Given the description of an element on the screen output the (x, y) to click on. 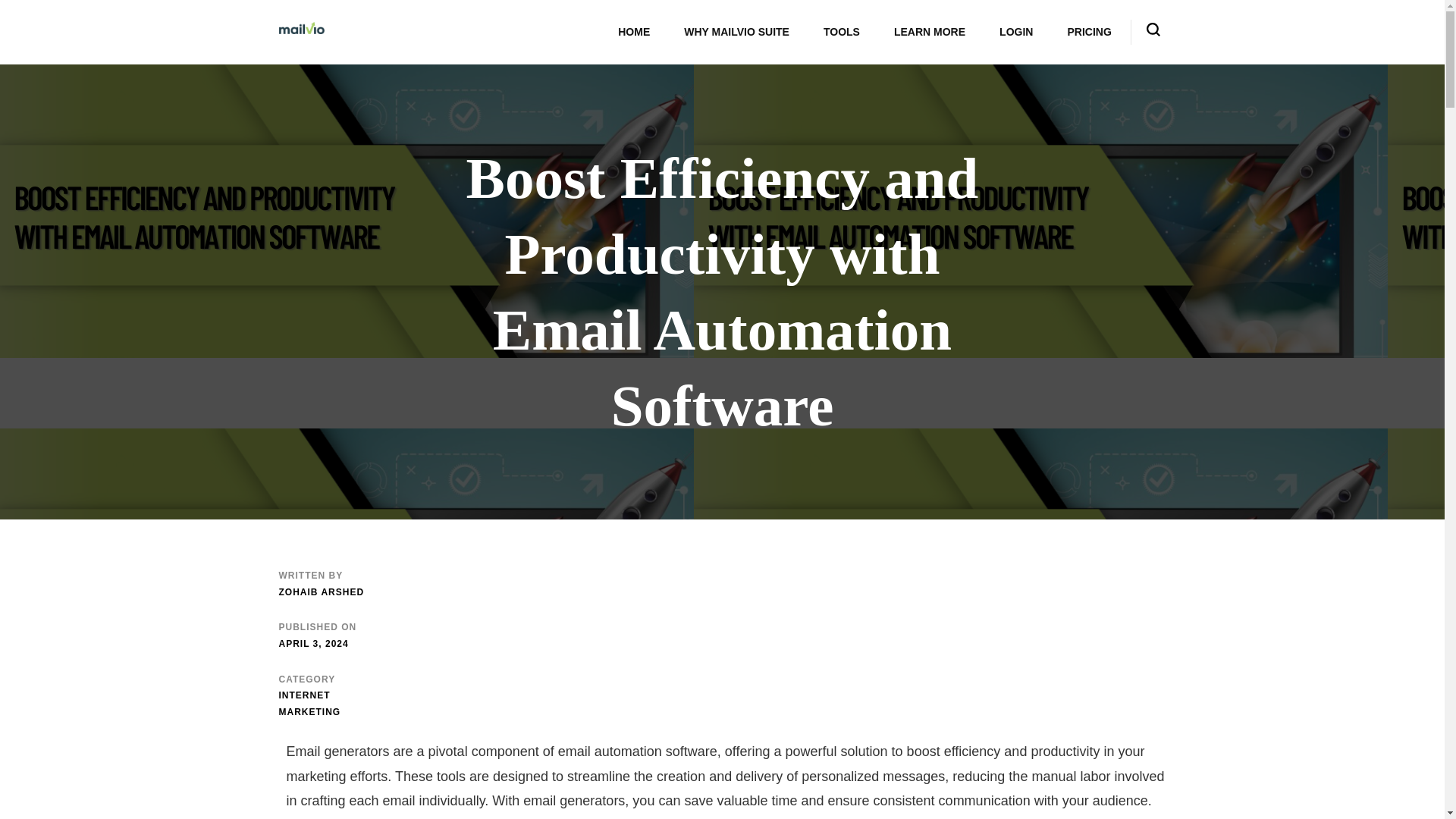
LEARN MORE (929, 32)
TOOLS (841, 32)
WHY MAILVIO SUITE (736, 32)
HOME (633, 32)
Mailvio (373, 45)
